Given the description of an element on the screen output the (x, y) to click on. 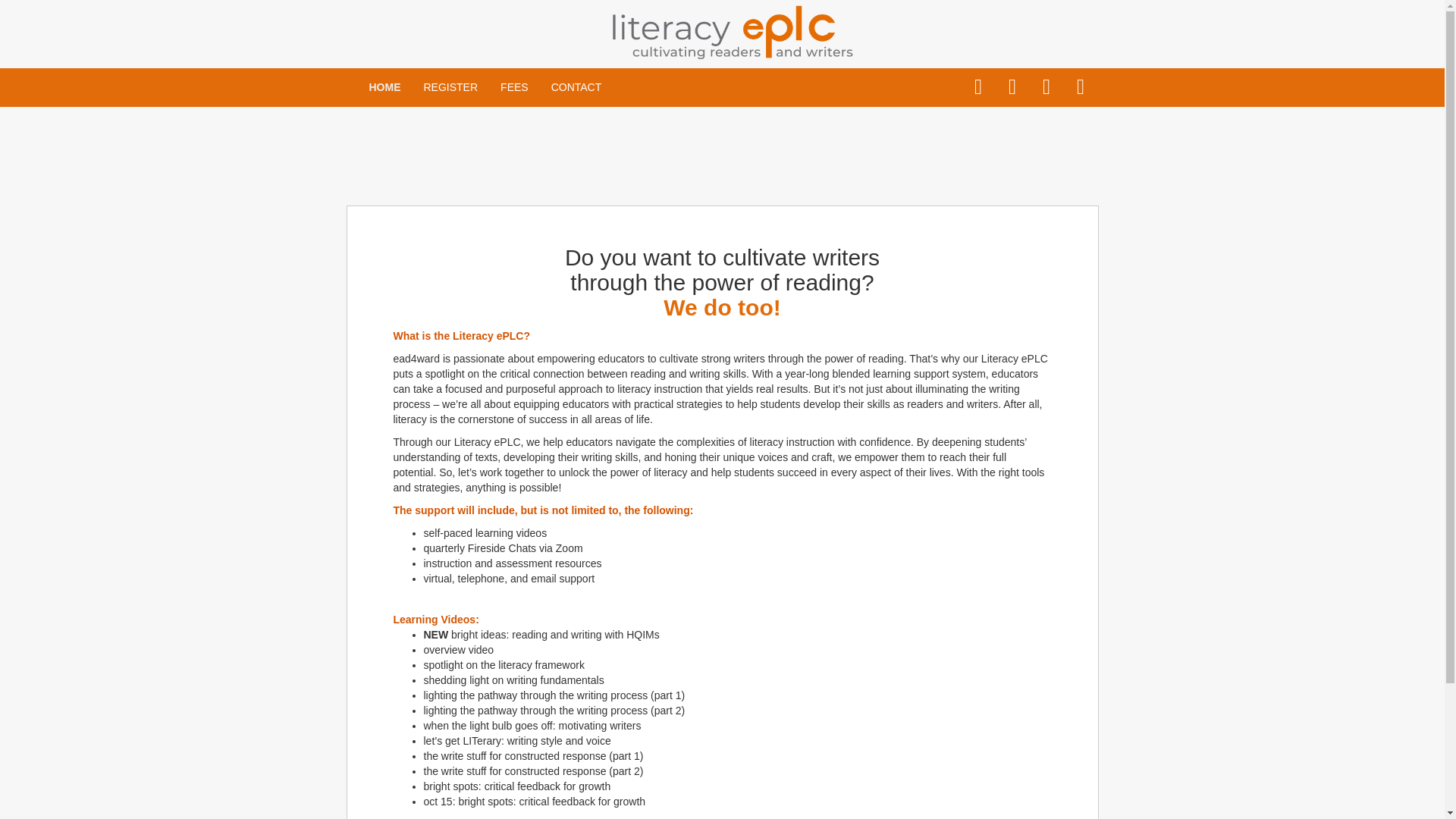
REGISTER (450, 86)
HOME (385, 86)
CONTACT (576, 86)
FEES (514, 86)
